Given the description of an element on the screen output the (x, y) to click on. 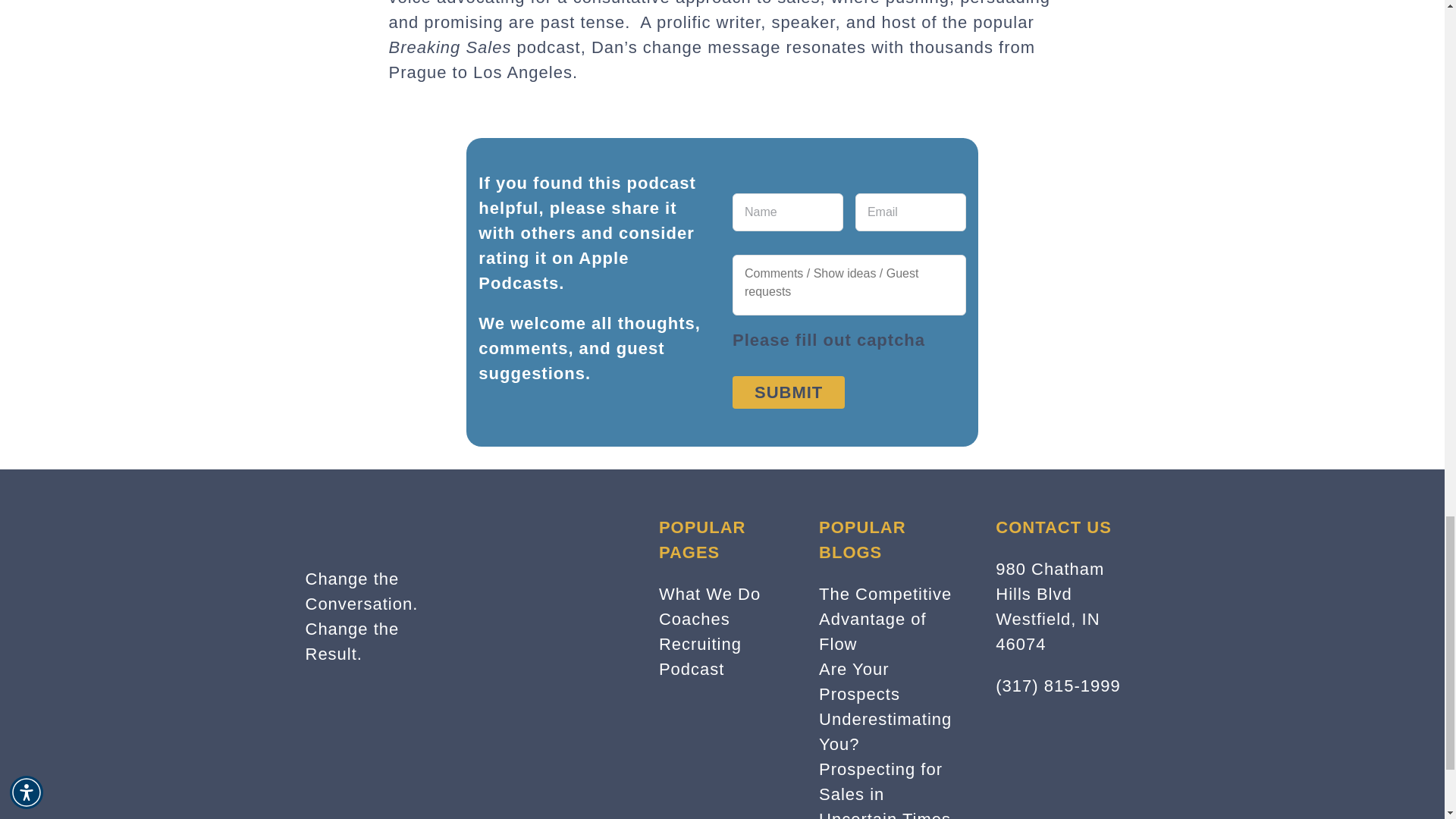
Recruiting (700, 643)
What We Do (709, 593)
Submit (788, 391)
The Competitive Advantage of Flow (885, 618)
Podcast (692, 669)
Coaches (694, 618)
Submit (788, 391)
Are Your Prospects Underestimating You? (885, 706)
